Given the description of an element on the screen output the (x, y) to click on. 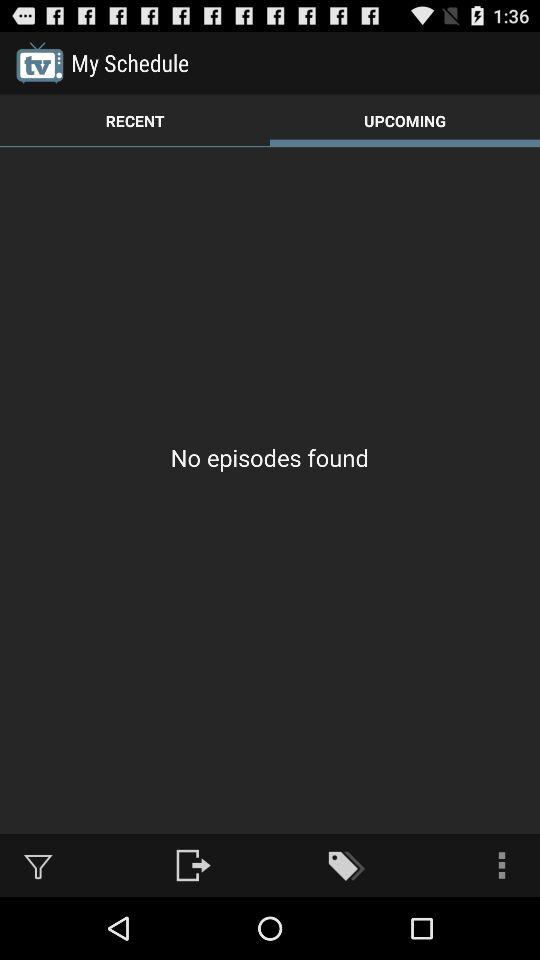
tap recent icon (135, 120)
